Given the description of an element on the screen output the (x, y) to click on. 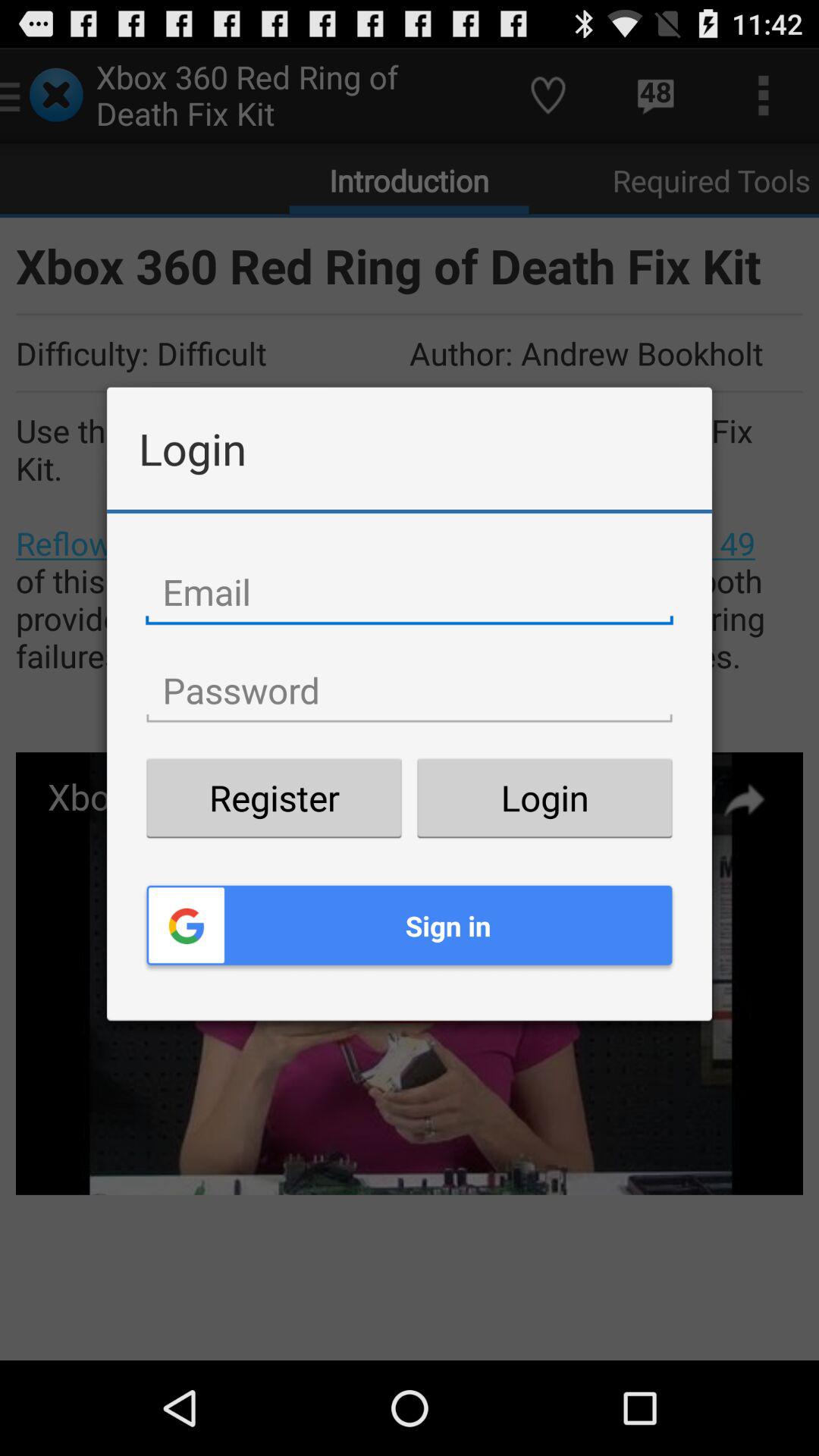
email text box (409, 592)
